Given the description of an element on the screen output the (x, y) to click on. 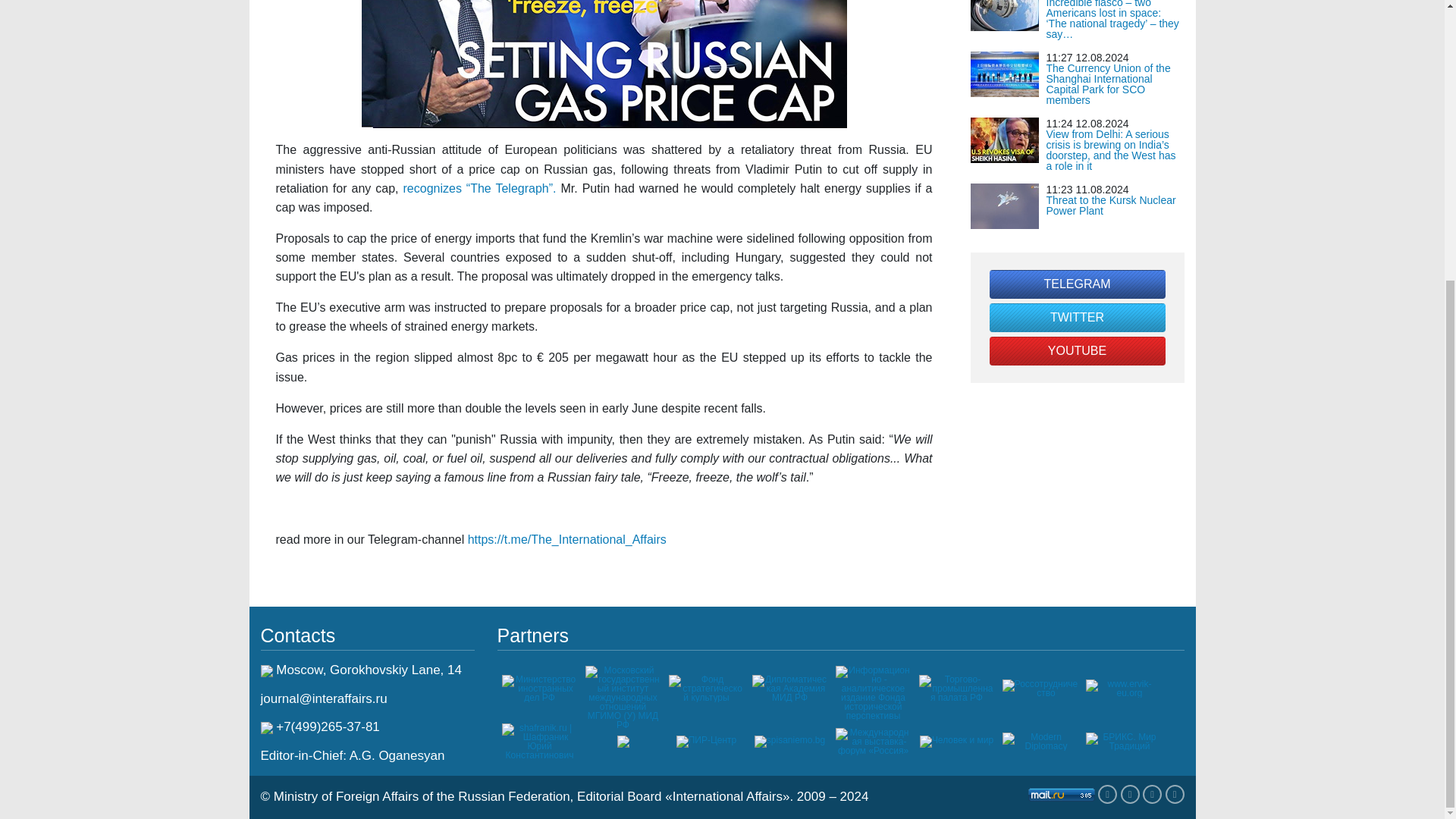
Threat to the Kursk Nuclear Power Plant (1111, 205)
www.ervik-eu.org (1123, 687)
